Given the description of an element on the screen output the (x, y) to click on. 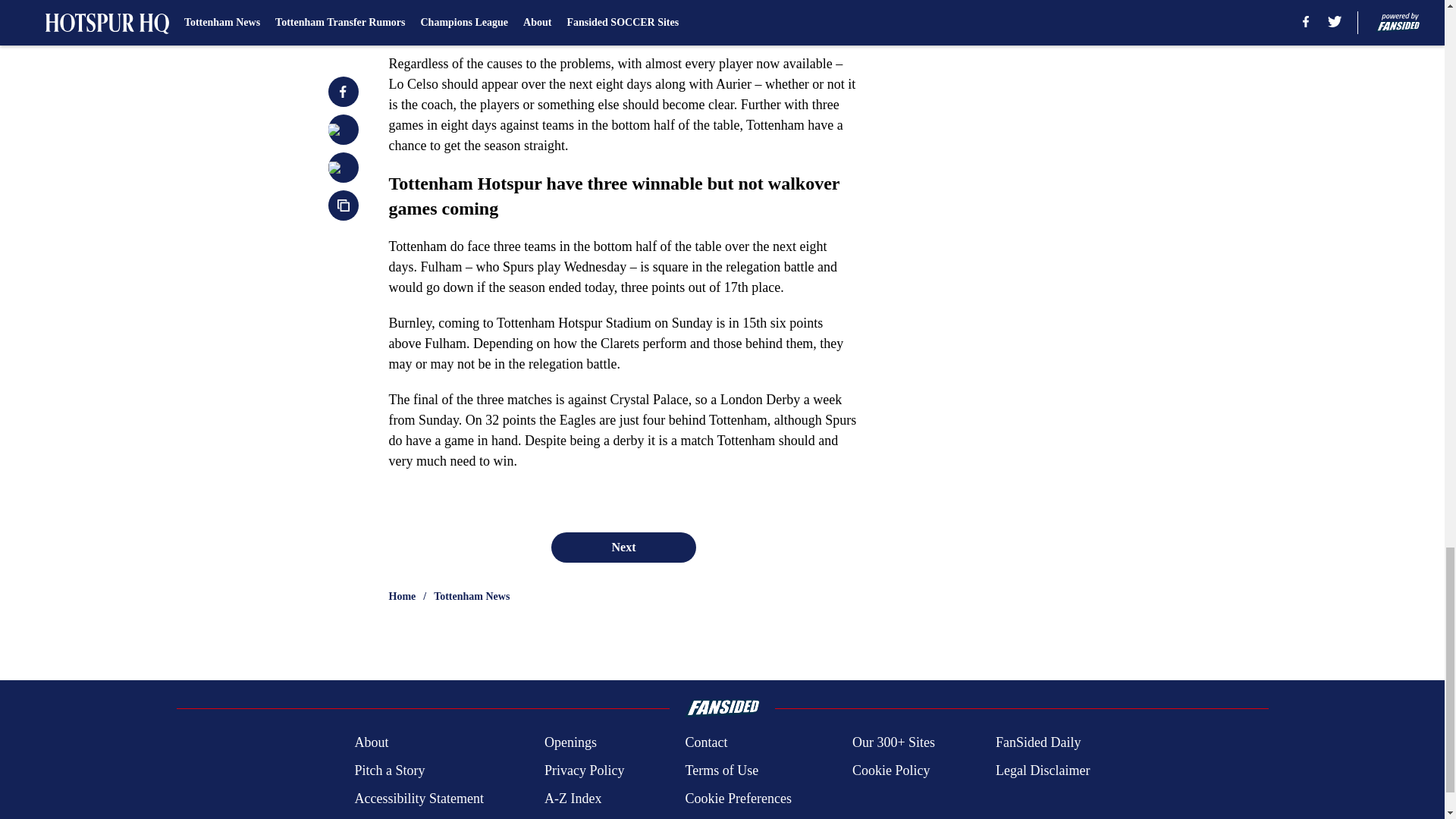
Cookie Policy (890, 770)
Openings (570, 742)
Tottenham News (471, 596)
A-Z Index (572, 798)
Pitch a Story (389, 770)
Home (401, 596)
About (370, 742)
Cookie Preferences (737, 798)
Accessibility Statement (418, 798)
Privacy Policy (584, 770)
